Given the description of an element on the screen output the (x, y) to click on. 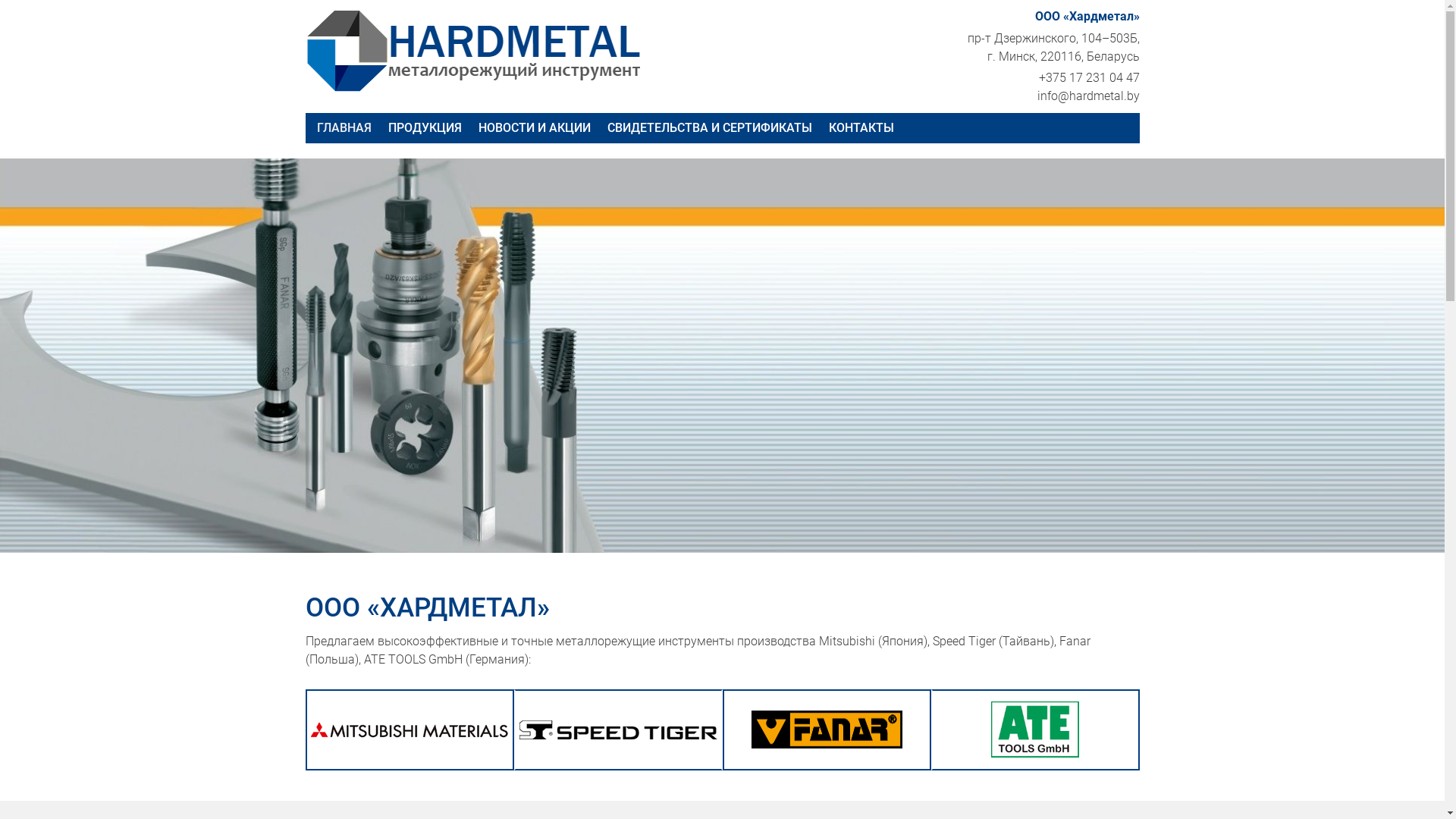
34747 Element type: hover (617, 729)
ryyt Element type: hover (825, 729)
hardmetal2 Element type: hover (481, 50)
2 Element type: text (715, 521)
4 Element type: text (740, 521)
ate Element type: hover (1035, 729)
3 Element type: text (728, 521)
info@hardmetal.by Element type: text (1088, 95)
1 Element type: text (703, 521)
header-logo Element type: hover (409, 730)
+375 17 231 04 47 Element type: text (1088, 77)
